Given the description of an element on the screen output the (x, y) to click on. 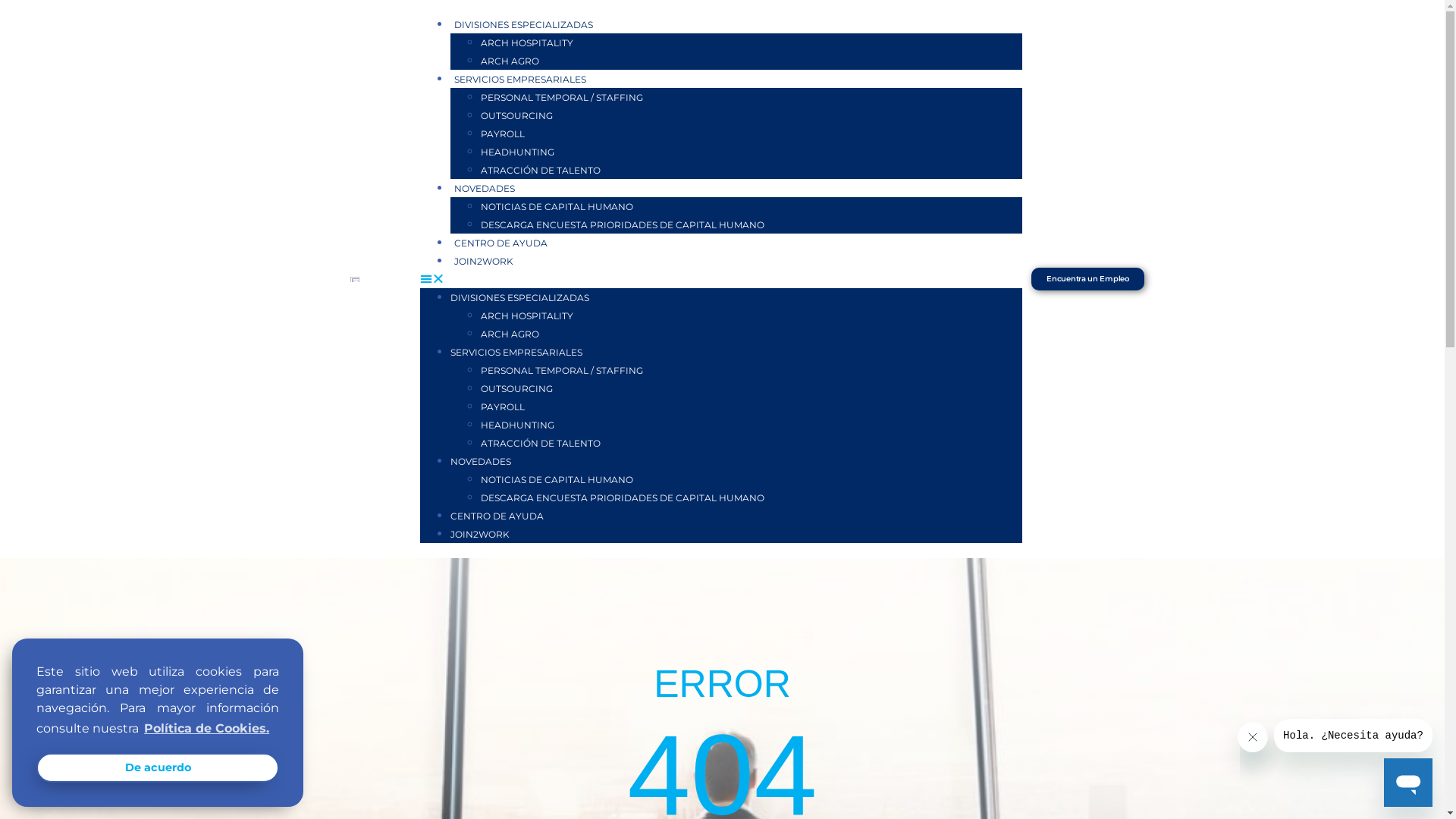
JOIN2WORK Element type: text (483, 260)
PERSONAL TEMPORAL / STAFFING Element type: text (561, 97)
CENTRO DE AYUDA Element type: text (496, 515)
Button to launch messaging window Element type: hover (1407, 782)
HEADHUNTING Element type: text (517, 424)
ARCH HOSPITALITY Element type: text (526, 315)
PAYROLL Element type: text (502, 133)
NOVEDADES Element type: text (484, 188)
De acuerdo Element type: text (157, 767)
DESCARGA ENCUESTA PRIORIDADES DE CAPITAL HUMANO Element type: text (622, 224)
SERVICIOS EMPRESARIALES Element type: text (516, 351)
HEADHUNTING Element type: text (517, 151)
NOTICIAS DE CAPITAL HUMANO Element type: text (556, 479)
NOVEDADES Element type: text (480, 461)
DIVISIONES ESPECIALIZADAS Element type: text (519, 297)
OUTSOURCING Element type: text (516, 115)
DIVISIONES ESPECIALIZADAS Element type: text (523, 24)
Encuentra un Empleo Element type: text (1087, 278)
PAYROLL Element type: text (502, 406)
JOIN2WORK Element type: text (479, 533)
PERSONAL TEMPORAL / STAFFING Element type: text (561, 370)
SERVICIOS EMPRESARIALES Element type: text (519, 78)
ARCH HOSPITALITY Element type: text (526, 42)
ARCH AGRO Element type: text (509, 60)
NOTICIAS DE CAPITAL HUMANO Element type: text (556, 206)
Close message Element type: hover (1252, 736)
OUTSOURCING Element type: text (516, 388)
ARCH AGRO Element type: text (509, 333)
DESCARGA ENCUESTA PRIORIDADES DE CAPITAL HUMANO Element type: text (622, 497)
Message from company Element type: hover (1353, 735)
CENTRO DE AYUDA Element type: text (500, 242)
